Given the description of an element on the screen output the (x, y) to click on. 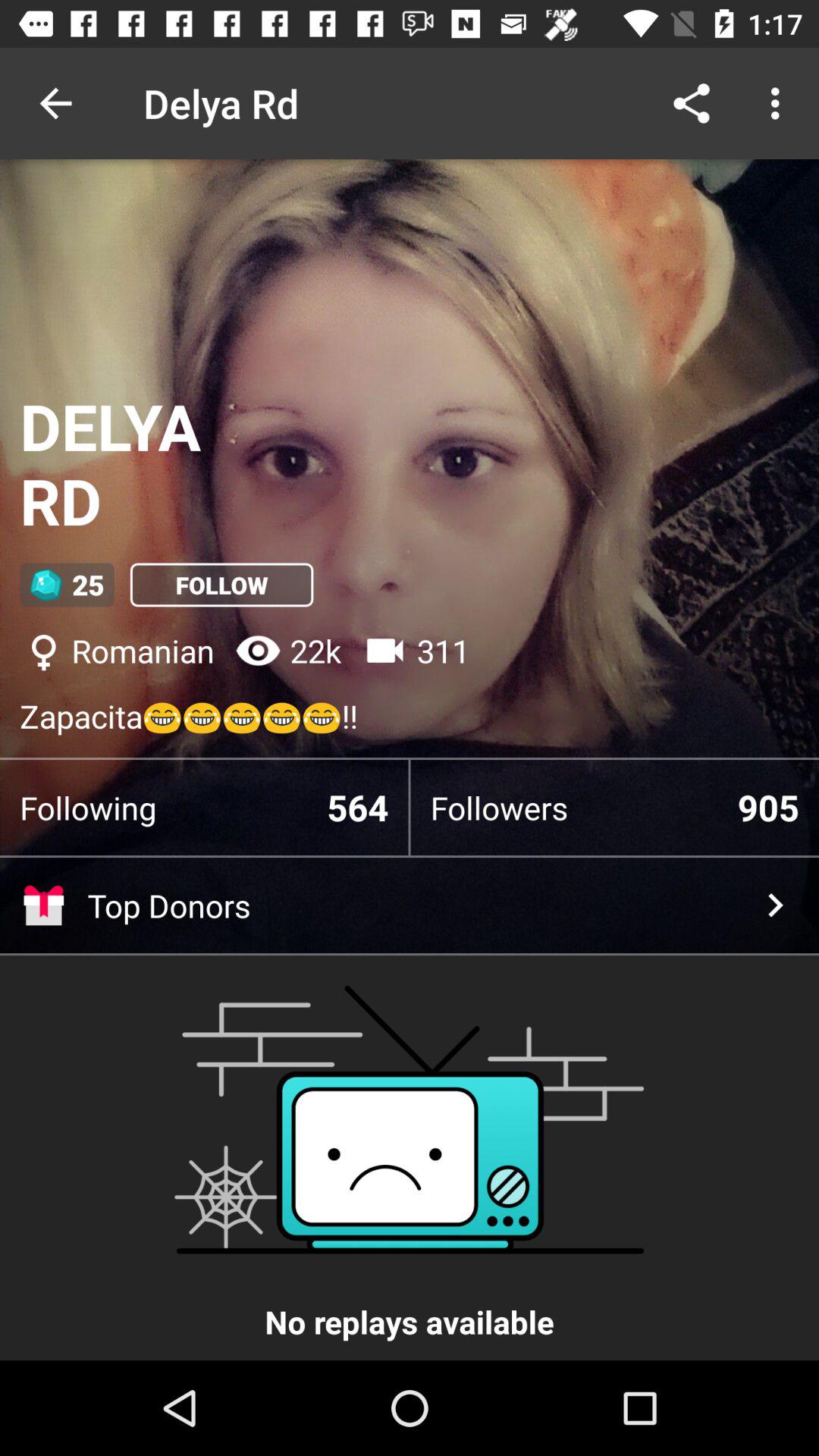
launch follow (221, 584)
